Given the description of an element on the screen output the (x, y) to click on. 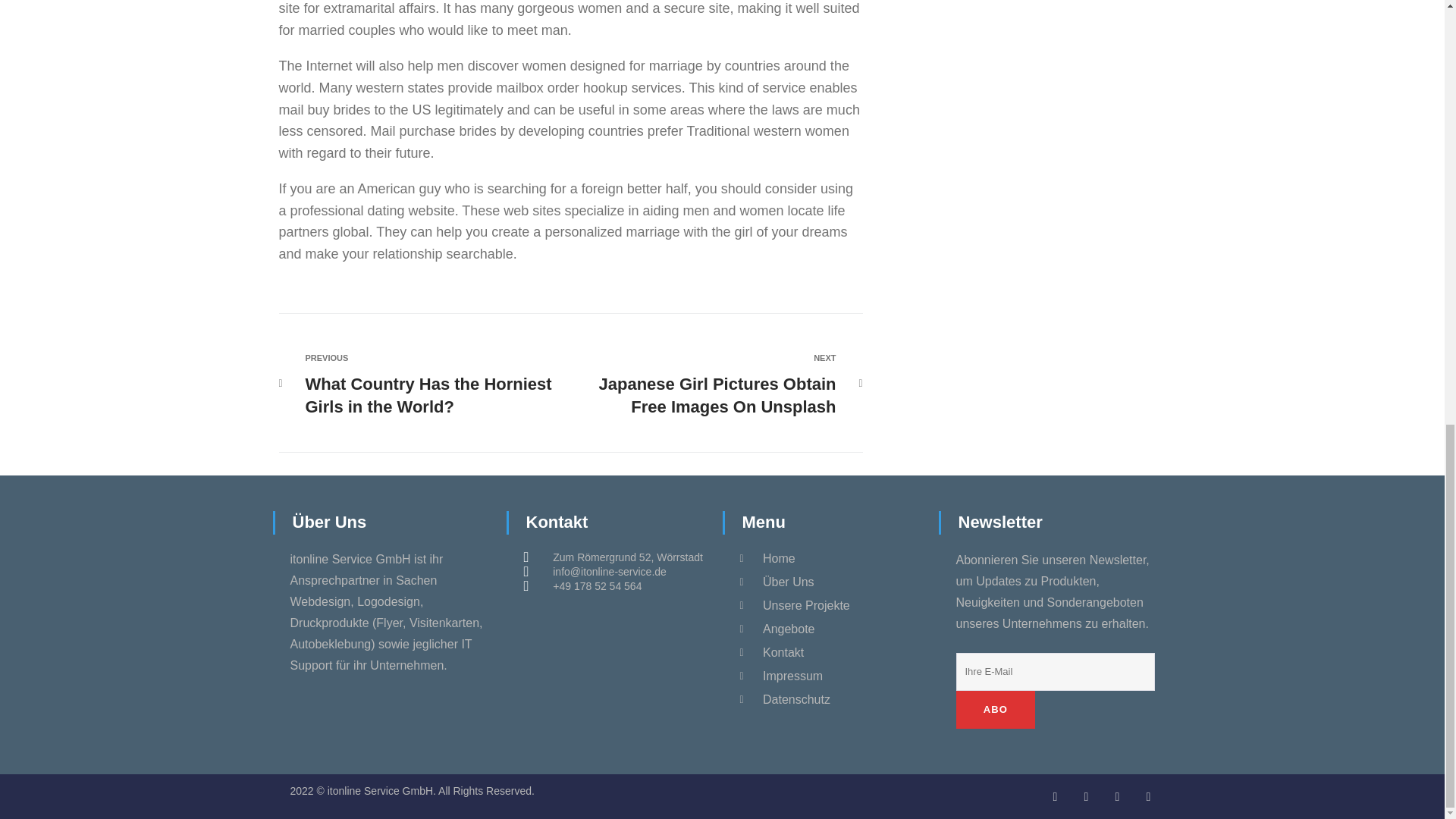
Impressum (830, 676)
Unsere Projekte (830, 605)
Home (830, 558)
Angebote (830, 629)
Datenschutz (431, 384)
Kontakt (830, 699)
